Given the description of an element on the screen output the (x, y) to click on. 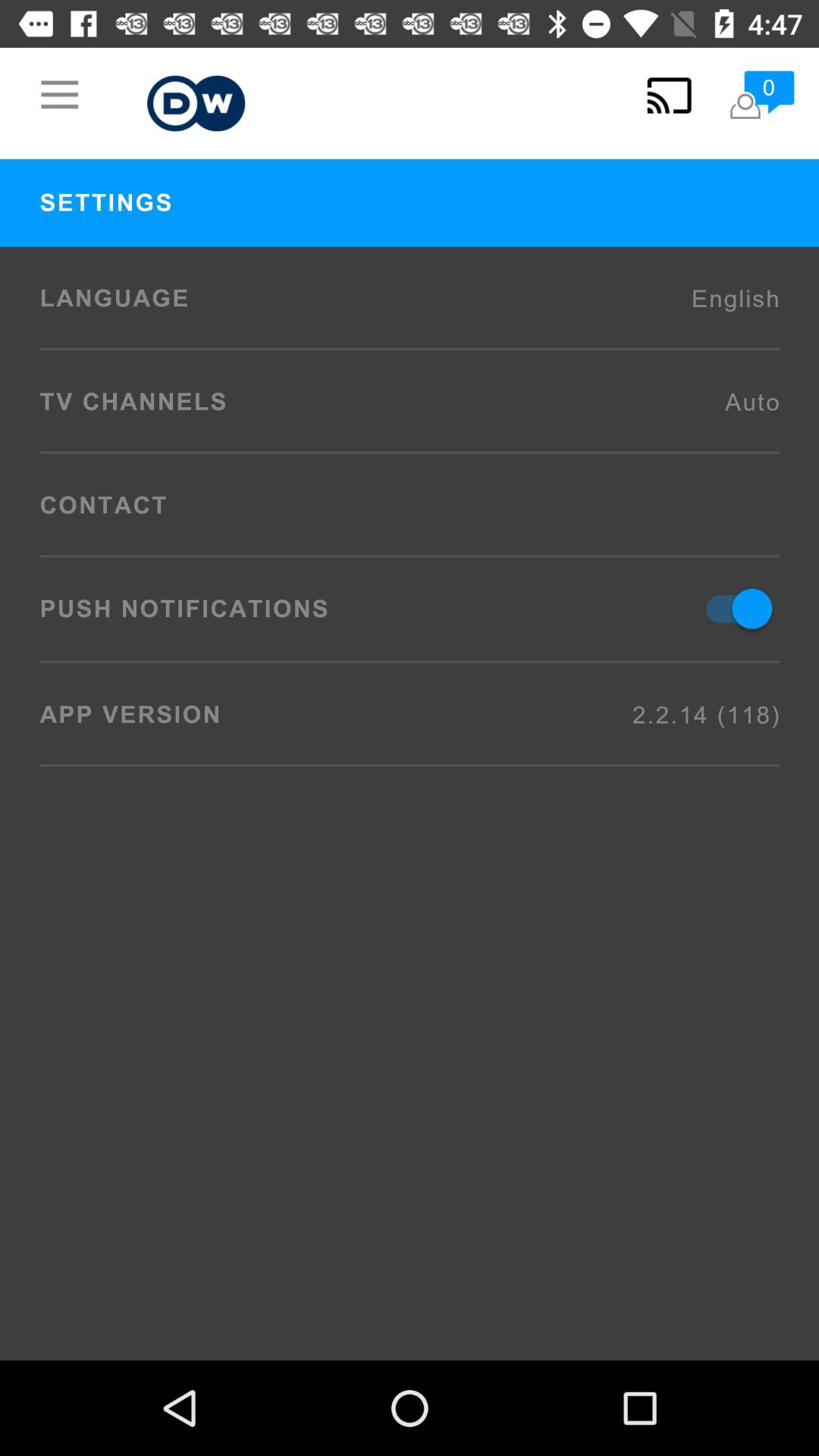
tap the item to the left of 0 icon (669, 95)
